Given the description of an element on the screen output the (x, y) to click on. 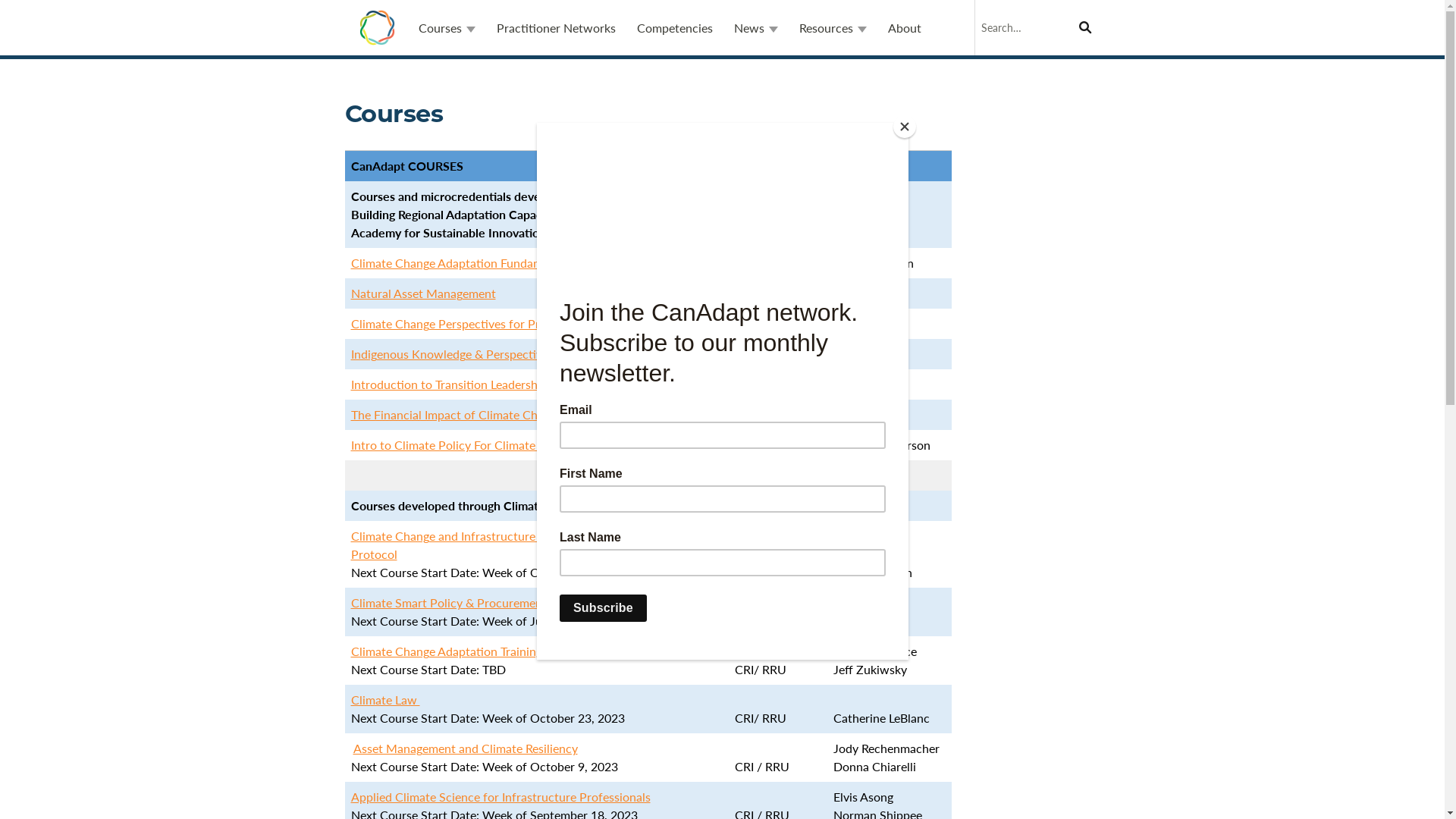
The Financial Impact of Climate Change Element type: text (455, 414)
Climate Change Perspectives for Project Managers Element type: text (485, 323)
Introduction to Transition Leadership Element type: text (448, 383)
Enter the terms you wish to search for. Element type: hover (1037, 27)
Climate Law  Element type: text (384, 699)
Search Element type: text (1074, 18)
Asset Management and Climate Resiliency Element type: text (465, 747)
Intro to Climate Policy For Climate Adaptation Professionals Element type: text (510, 444)
About Element type: text (903, 27)
Competencies Element type: text (674, 27)
Climate Smart Policy & Procurement Element type: text (448, 602)
Home Element type: hover (376, 27)
Courses Element type: text (446, 27)
Climate Change Adaptation Fundamentals Element type: text (462, 262)
Applied Climate Science for Infrastructure Professionals Element type: text (499, 796)
Natural Asset Management Element type: text (422, 292)
Resources Element type: text (832, 27)
Skip to main content Element type: text (55, 0)
News Element type: text (755, 27)
Practitioner Networks Element type: text (555, 27)
